Given the description of an element on the screen output the (x, y) to click on. 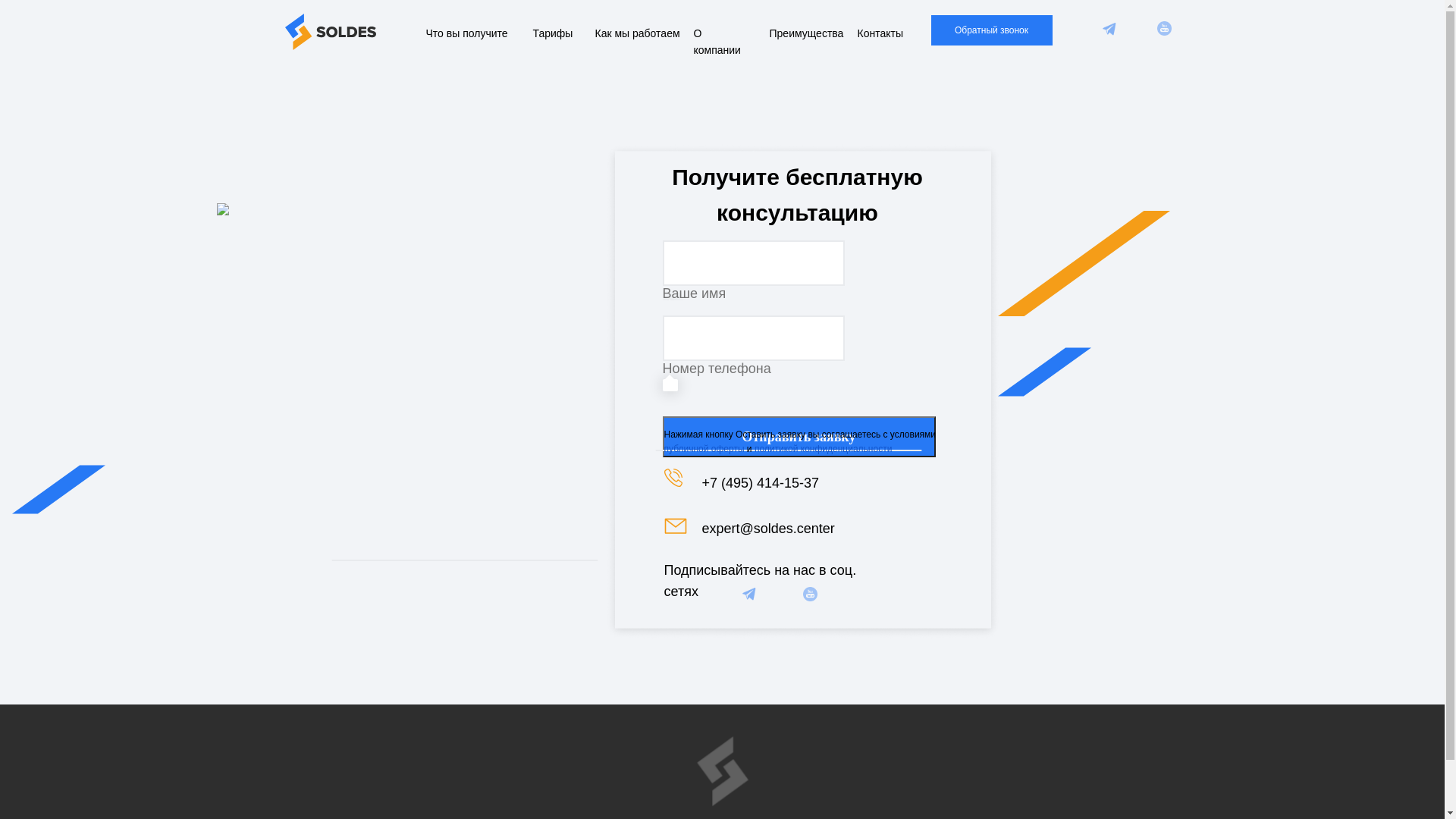
+7 (495) 414-15-37 Element type: text (760, 482)
expert@soldes.center Element type: text (768, 528)
